Given the description of an element on the screen output the (x, y) to click on. 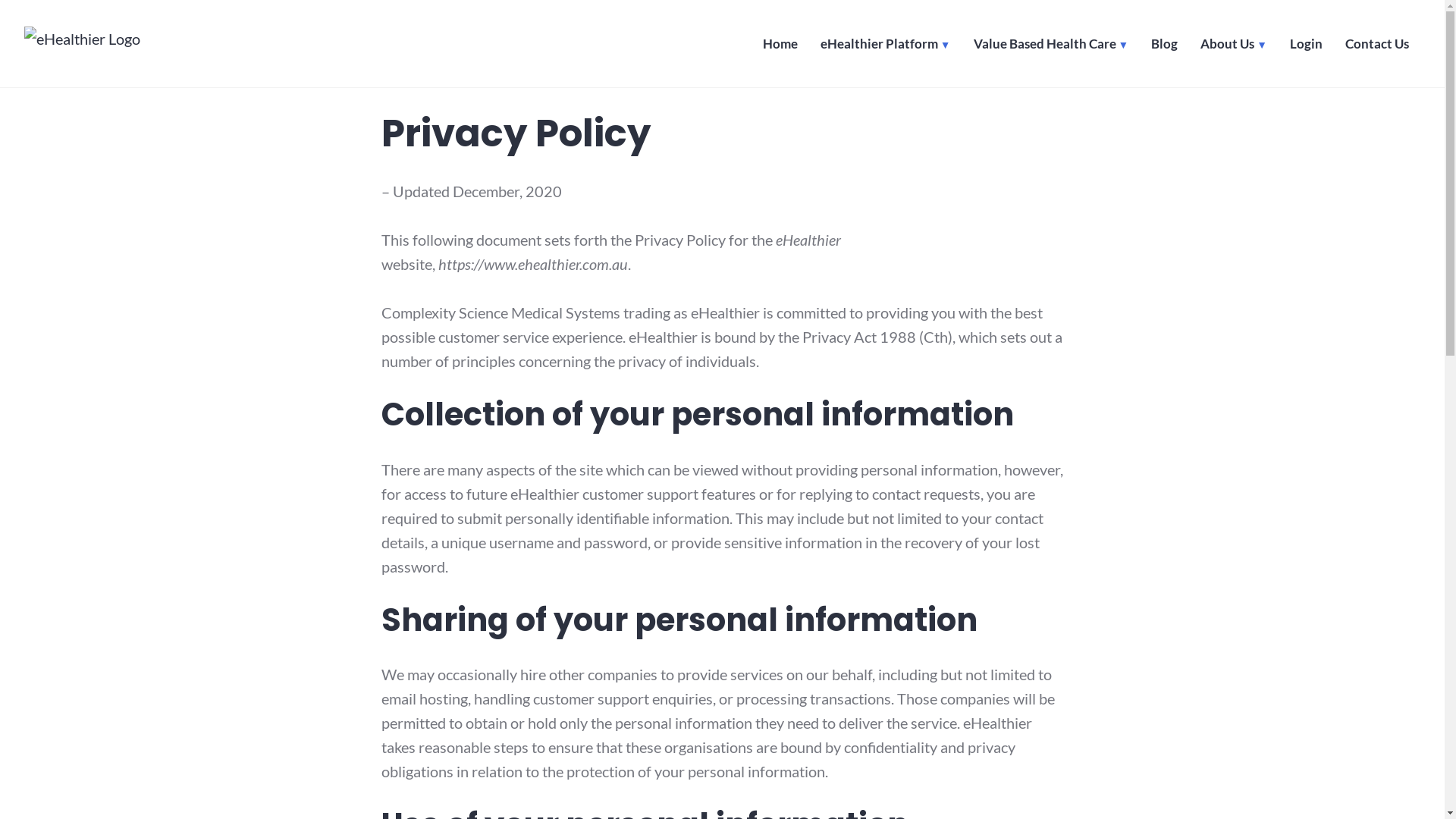
Value Based Health Care Element type: text (1051, 46)
Blog Element type: text (1164, 46)
Login Element type: text (1305, 46)
Home Element type: text (779, 46)
eHealthier Platform Element type: text (885, 46)
About Us Element type: text (1233, 46)
eHealthier Element type: text (84, 75)
Contact Us Element type: text (1376, 46)
